Given the description of an element on the screen output the (x, y) to click on. 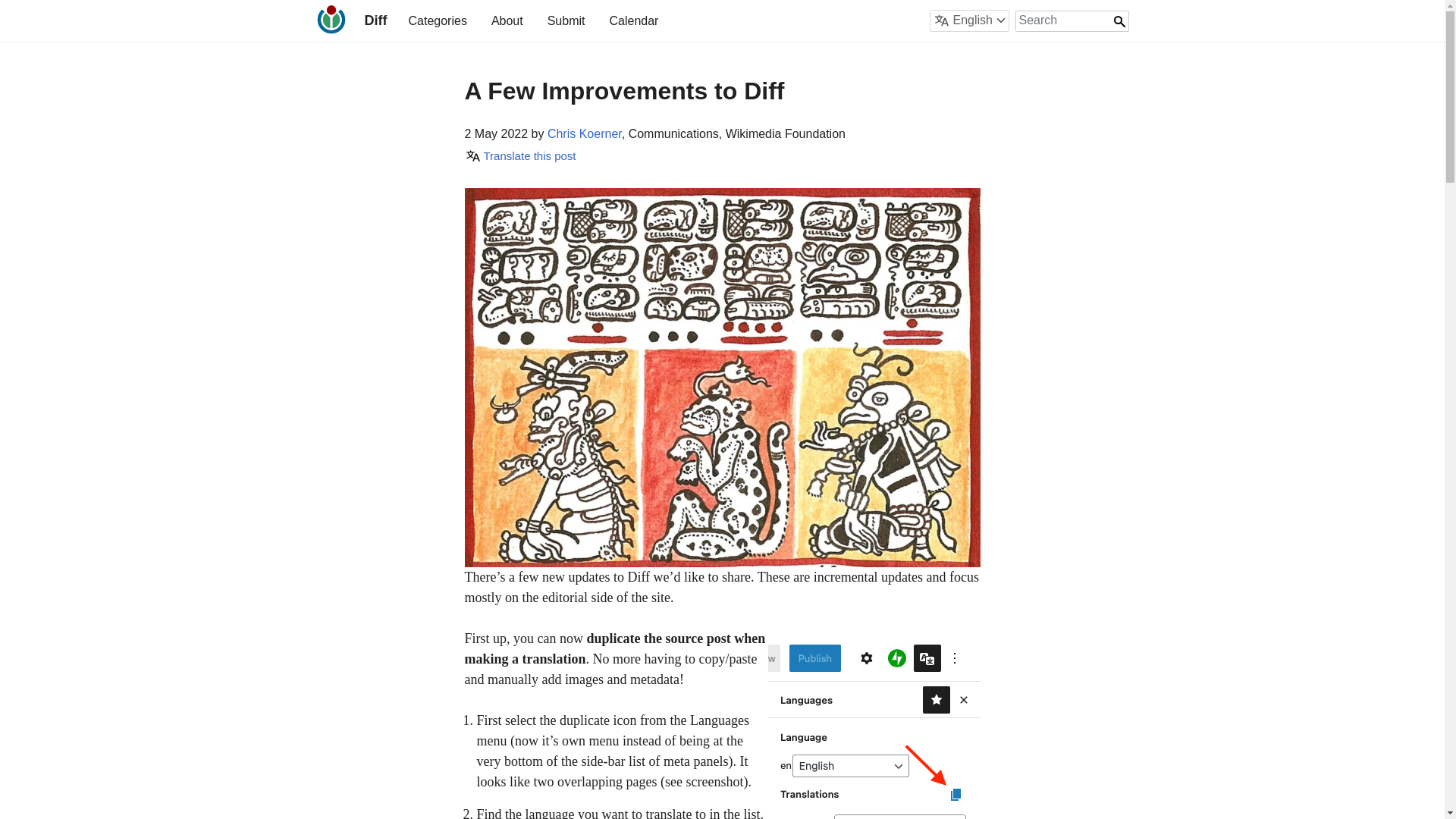
Chris Koerner (584, 133)
Submit (566, 20)
Diff (375, 20)
About (506, 20)
Calendar (632, 20)
main-navigation (532, 20)
Categories (436, 20)
Translate this post (519, 155)
Posts by Chris Koerner (584, 133)
secondary-navigation (902, 20)
